Given the description of an element on the screen output the (x, y) to click on. 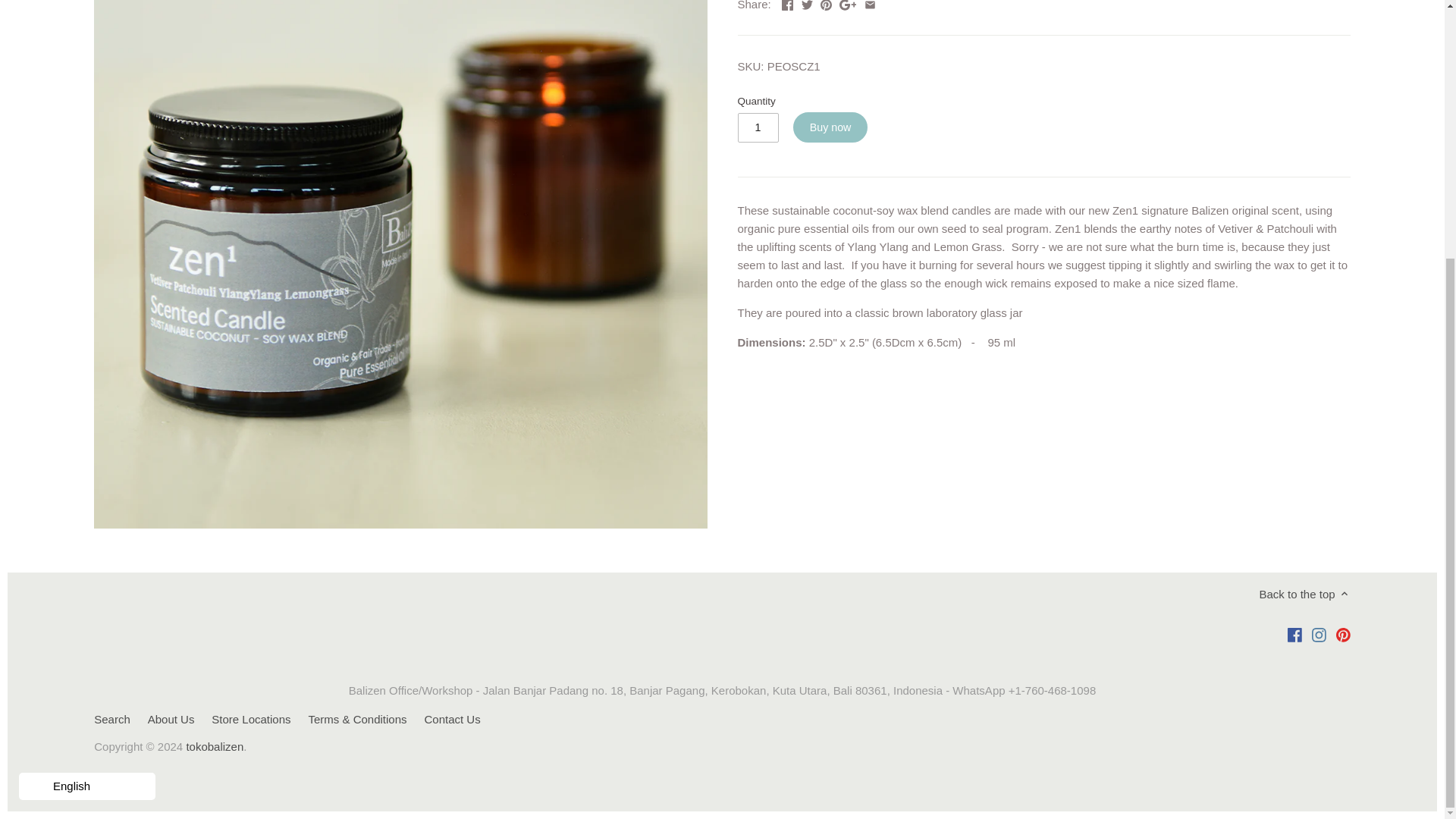
Pin the main image (826, 4)
Facebook (787, 5)
GooglePlus (848, 5)
1 (756, 127)
Share on Facebook (787, 4)
Email (870, 4)
Facebook (787, 4)
Instagram (1318, 635)
Twitter (807, 4)
Facebook (1294, 635)
Pinterest (826, 5)
Pinterest (1342, 635)
Pinterest (1343, 633)
Email (870, 5)
Instagram (1318, 633)
